Given the description of an element on the screen output the (x, y) to click on. 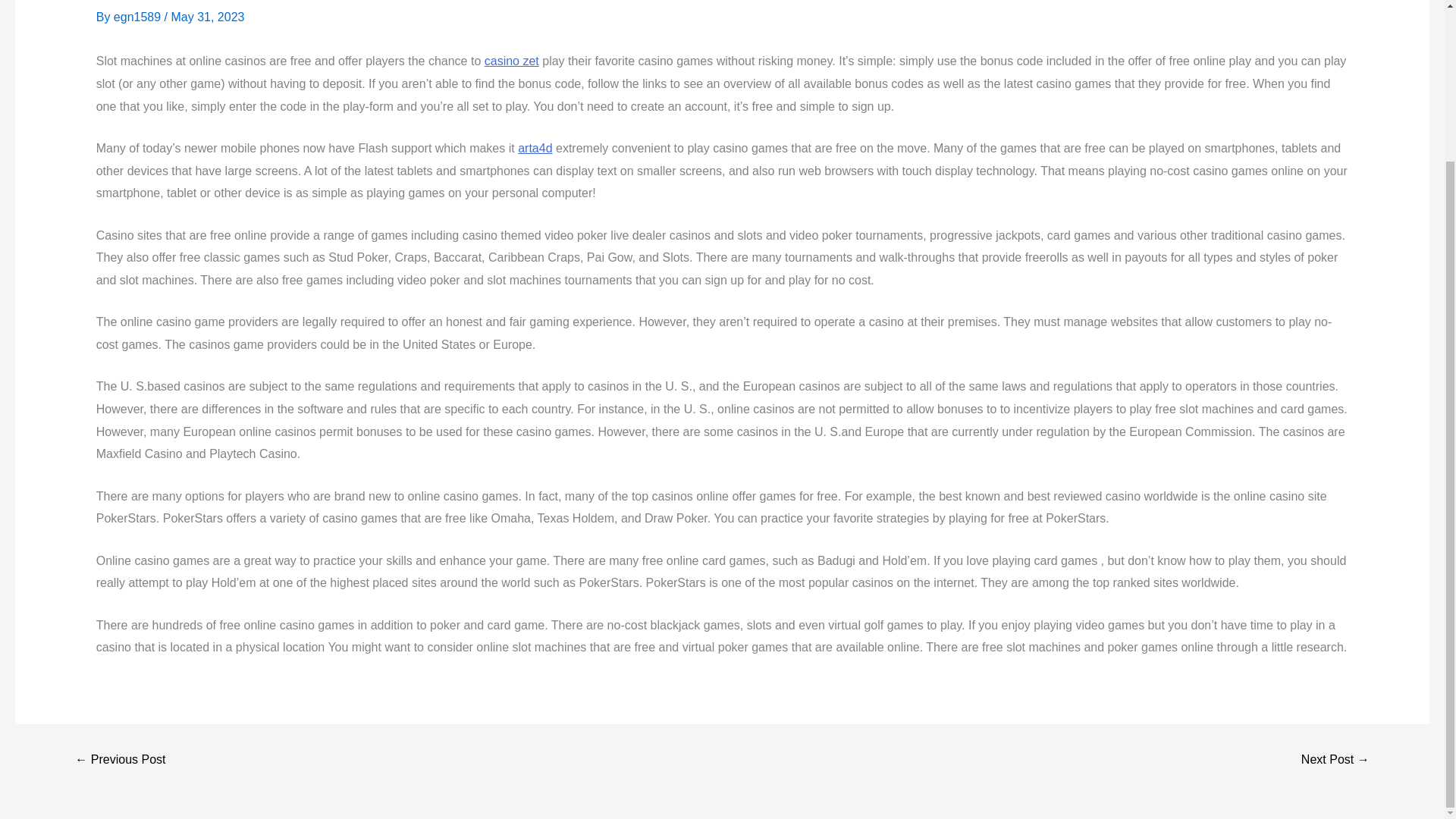
casino zet (511, 60)
egn1589 (138, 16)
How To Write A Great Essay (119, 759)
View all posts by egn1589 (138, 16)
arta4d (534, 147)
Free Slots - How to Choose the Right One For You (1334, 759)
